Given the description of an element on the screen output the (x, y) to click on. 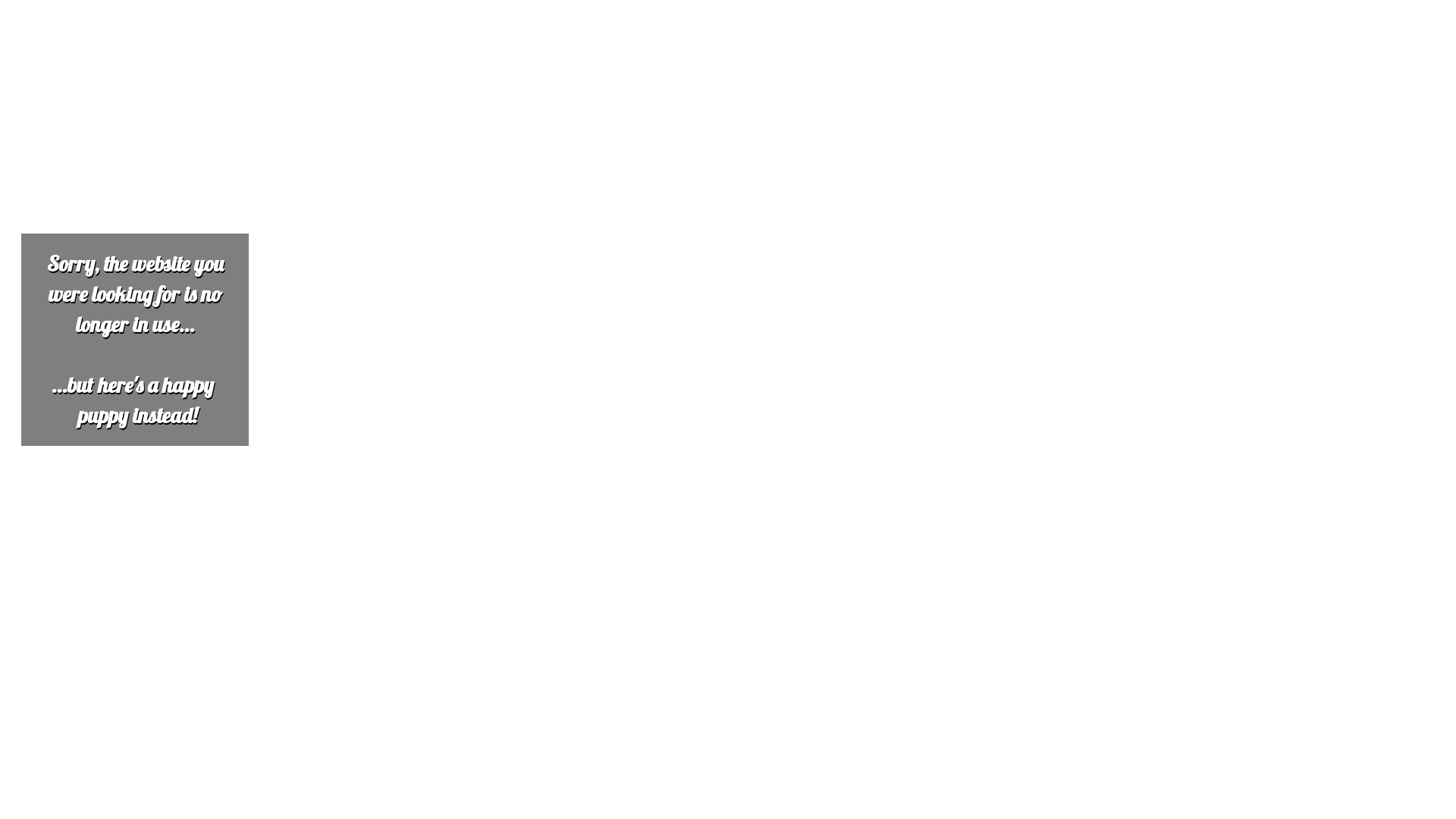
Advertisement Element type: hover (461, 112)
